Given the description of an element on the screen output the (x, y) to click on. 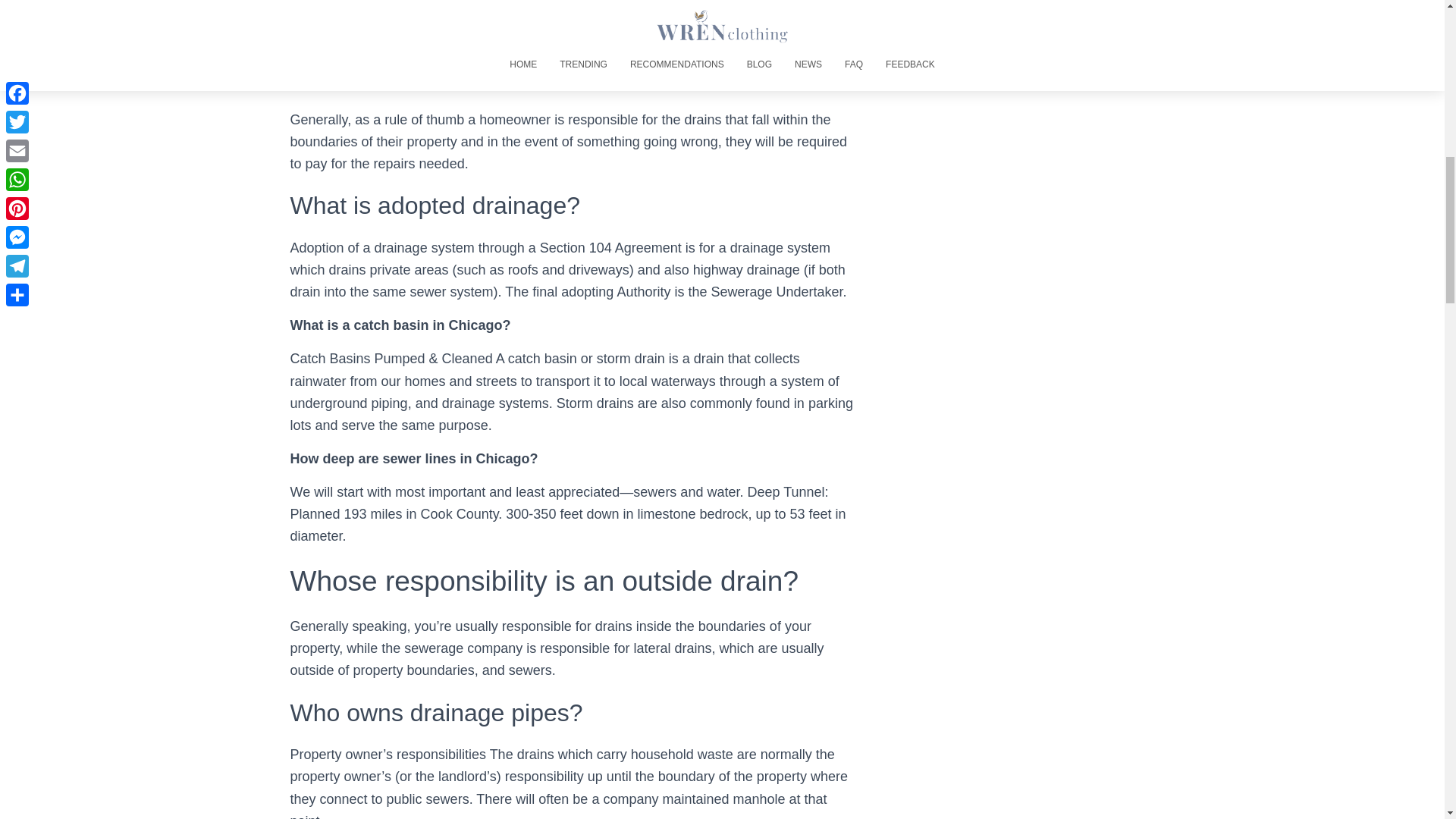
What is a storm drainage easement? (414, 4)
What is a storm drainage easement? (414, 4)
What are driveway easements and conservation easements? (483, 19)
What are driveway easements and conservation easements? (483, 19)
